Given the description of an element on the screen output the (x, y) to click on. 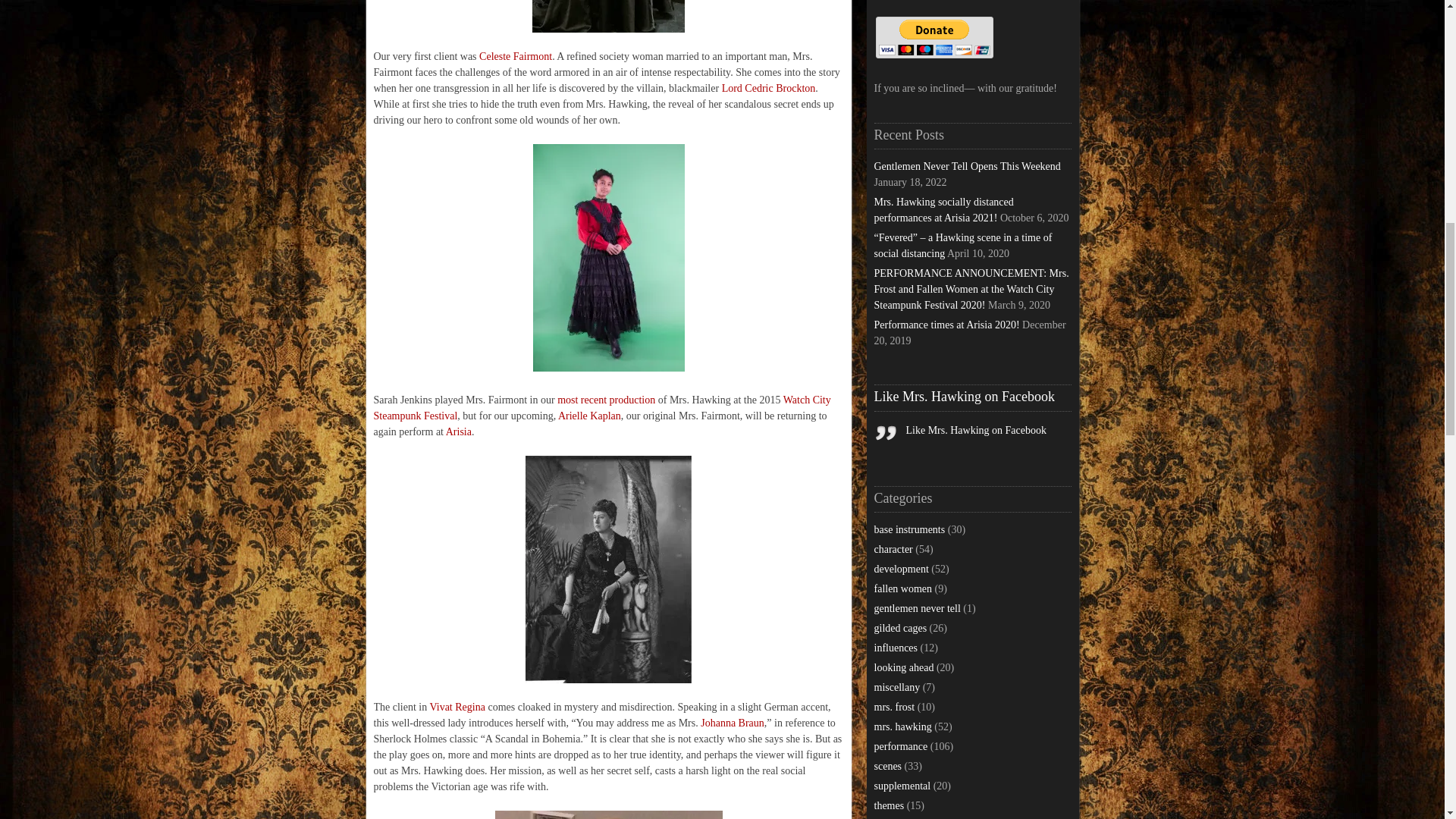
Celeste Fairmont (515, 56)
Watch City Steampunk Festival (600, 407)
Arisia (458, 431)
Lord Cedric Brockton (768, 88)
most recent production (606, 399)
Johanna Braun (732, 722)
Arielle Kaplan (589, 415)
Vivat Regina (456, 706)
